Given the description of an element on the screen output the (x, y) to click on. 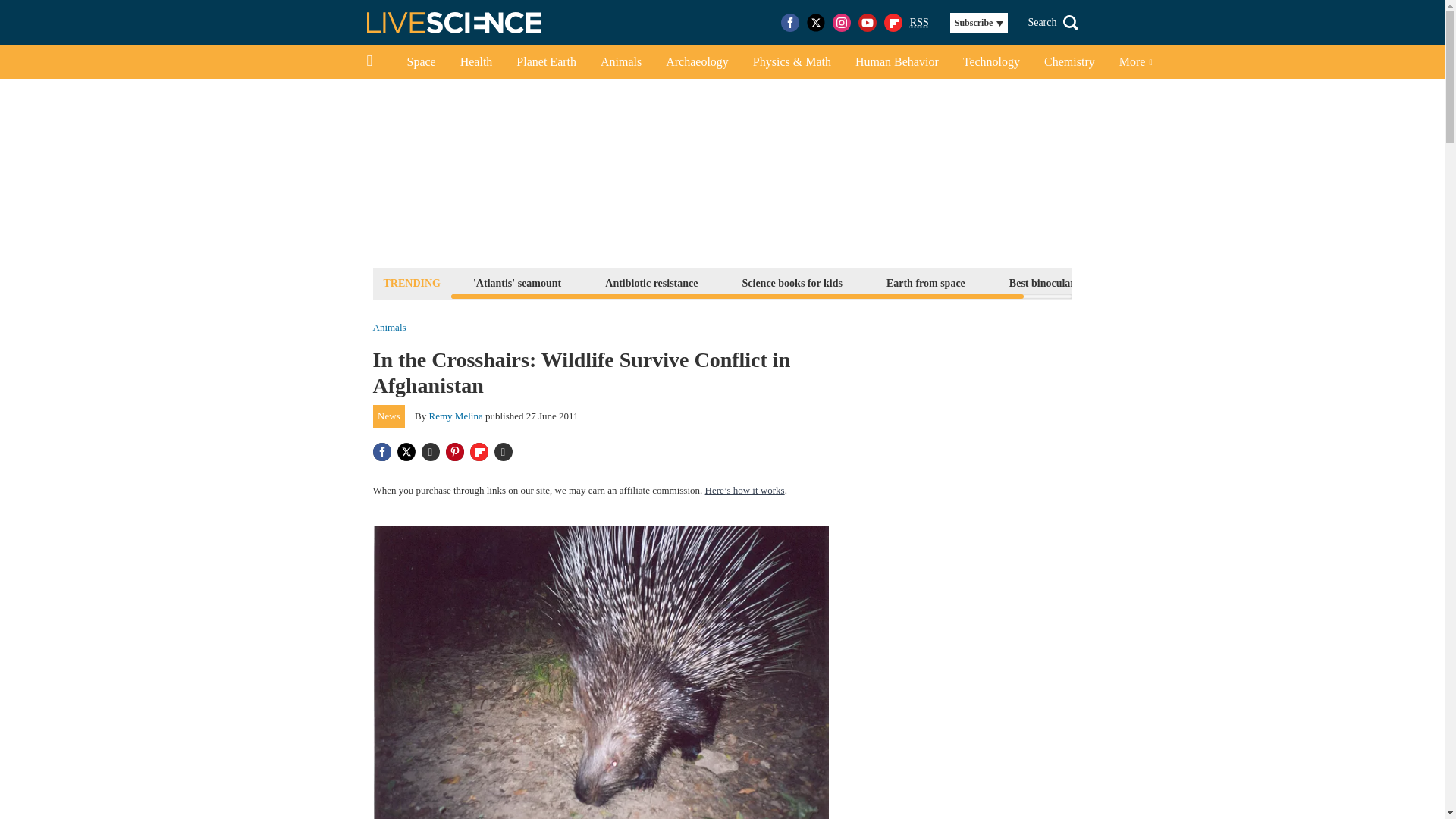
Animals (620, 61)
Planet Earth (545, 61)
Chemistry (1069, 61)
Animals (389, 327)
Remy Melina (456, 415)
RSS (919, 22)
News (389, 415)
Science books for kids (791, 282)
Best binoculars 2024 (1056, 282)
Really Simple Syndication (919, 21)
